Given the description of an element on the screen output the (x, y) to click on. 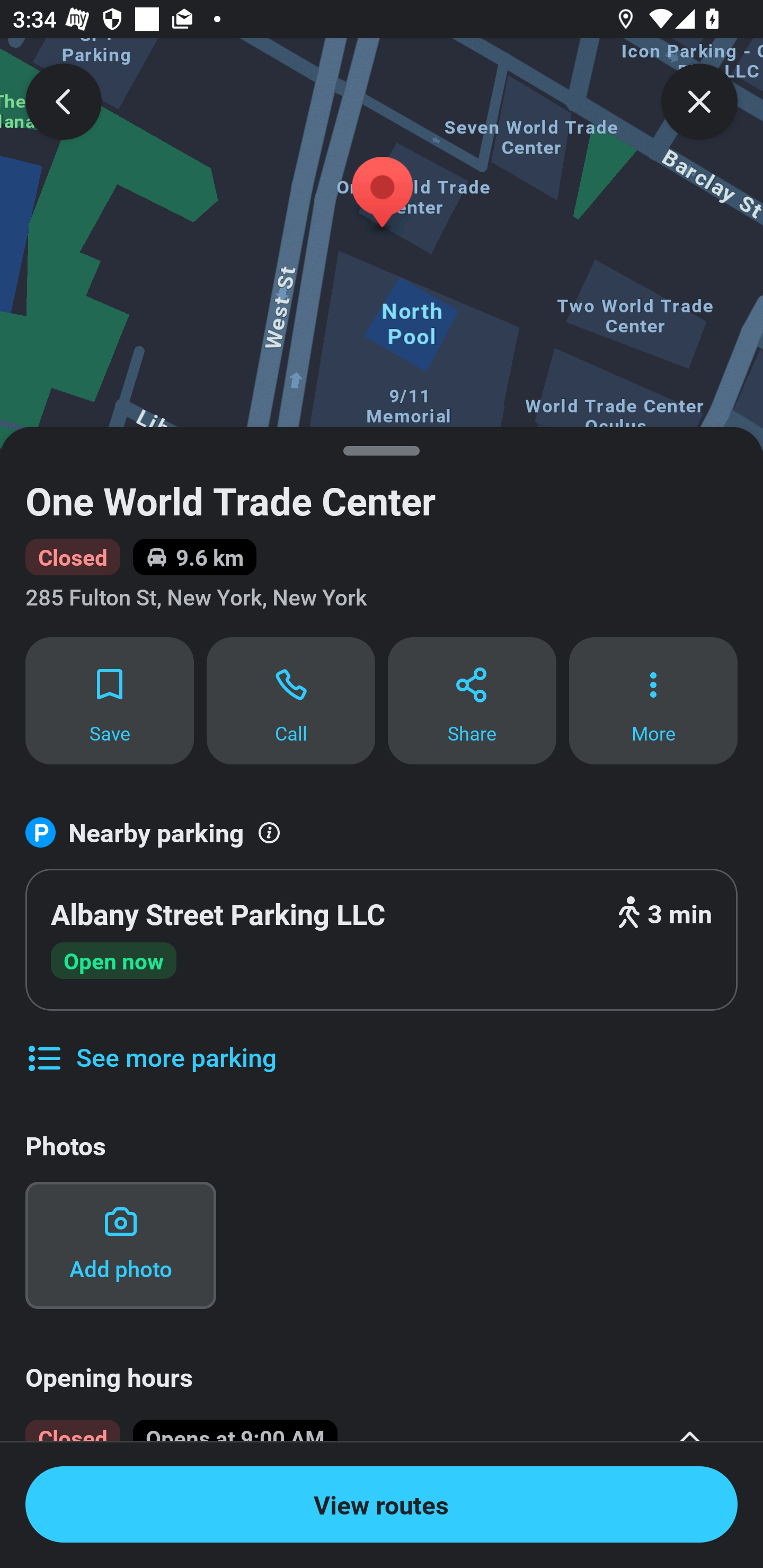
Save (109, 700)
Call (290, 700)
Share (471, 700)
More (653, 700)
Albany Street Parking LLC 3 min Open now (381, 939)
See more parking (150, 1043)
Add photo (120, 1245)
View routes (381, 1504)
